Given the description of an element on the screen output the (x, y) to click on. 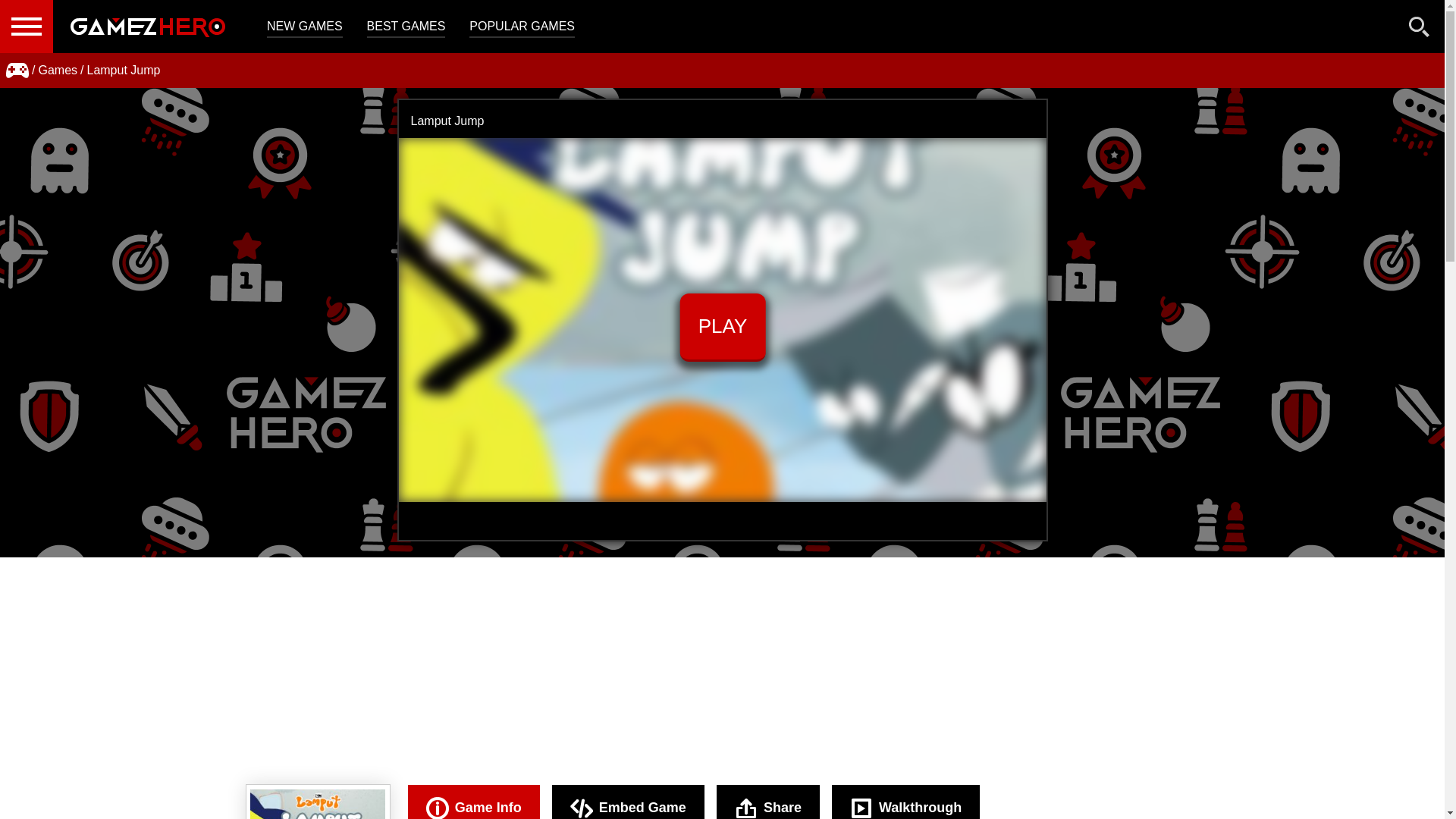
POPULAR GAMES (521, 27)
Gamezhero.com - Free Online Games. Play Free Games Online. (147, 26)
BEST GAMES (405, 27)
New Games (304, 27)
Best Games (405, 27)
Popular Games (521, 27)
Gamezhero.com - Free Online Games. Play Free Games Online. (147, 26)
NEW GAMES (304, 27)
